Given the description of an element on the screen output the (x, y) to click on. 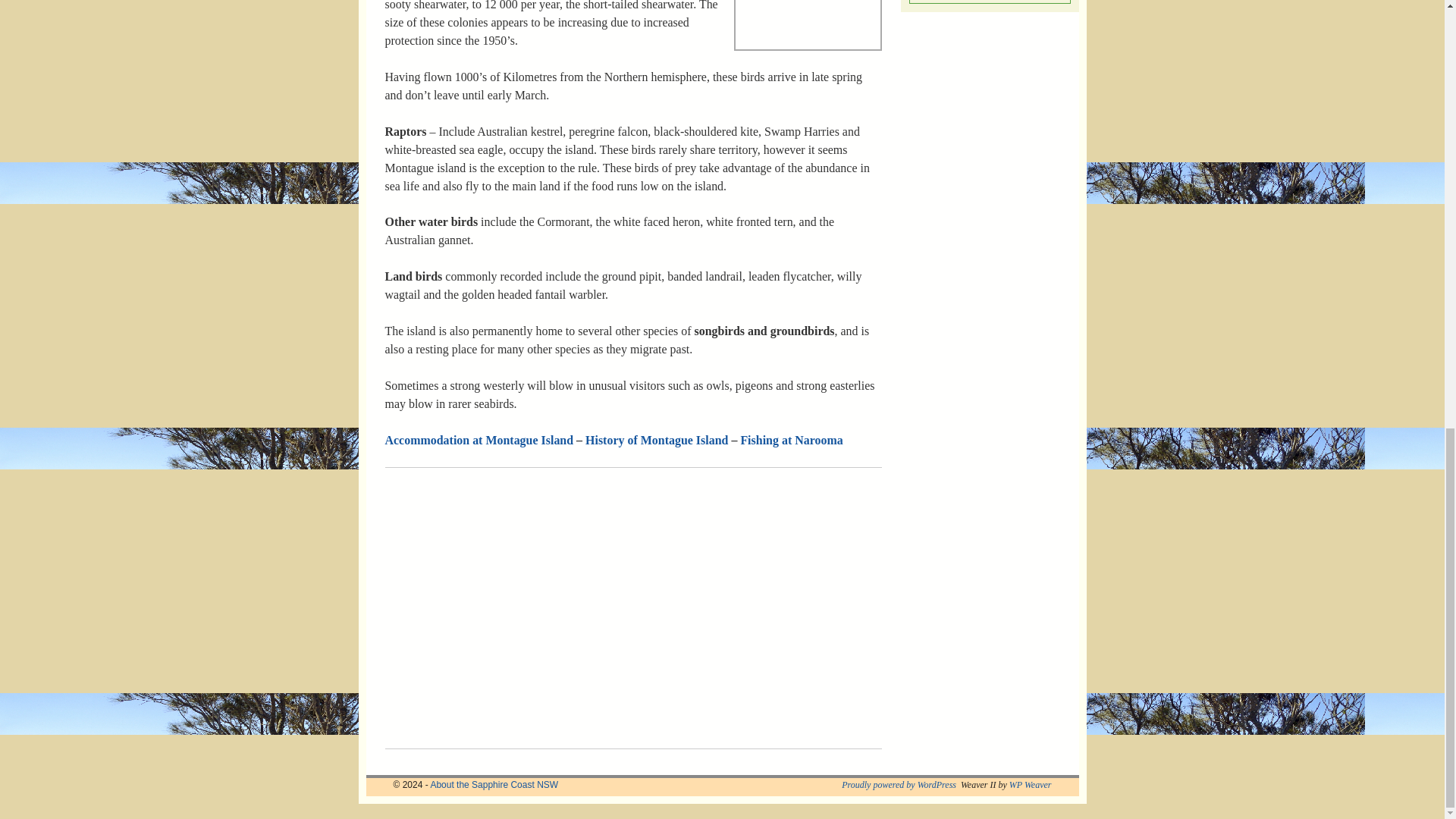
History of Montague Island (656, 440)
wordpress.org (898, 784)
Fishing at Narooma (791, 440)
Accommodation at Montague Island (479, 440)
About the Sapphire Coast NSW (493, 784)
